Given the description of an element on the screen output the (x, y) to click on. 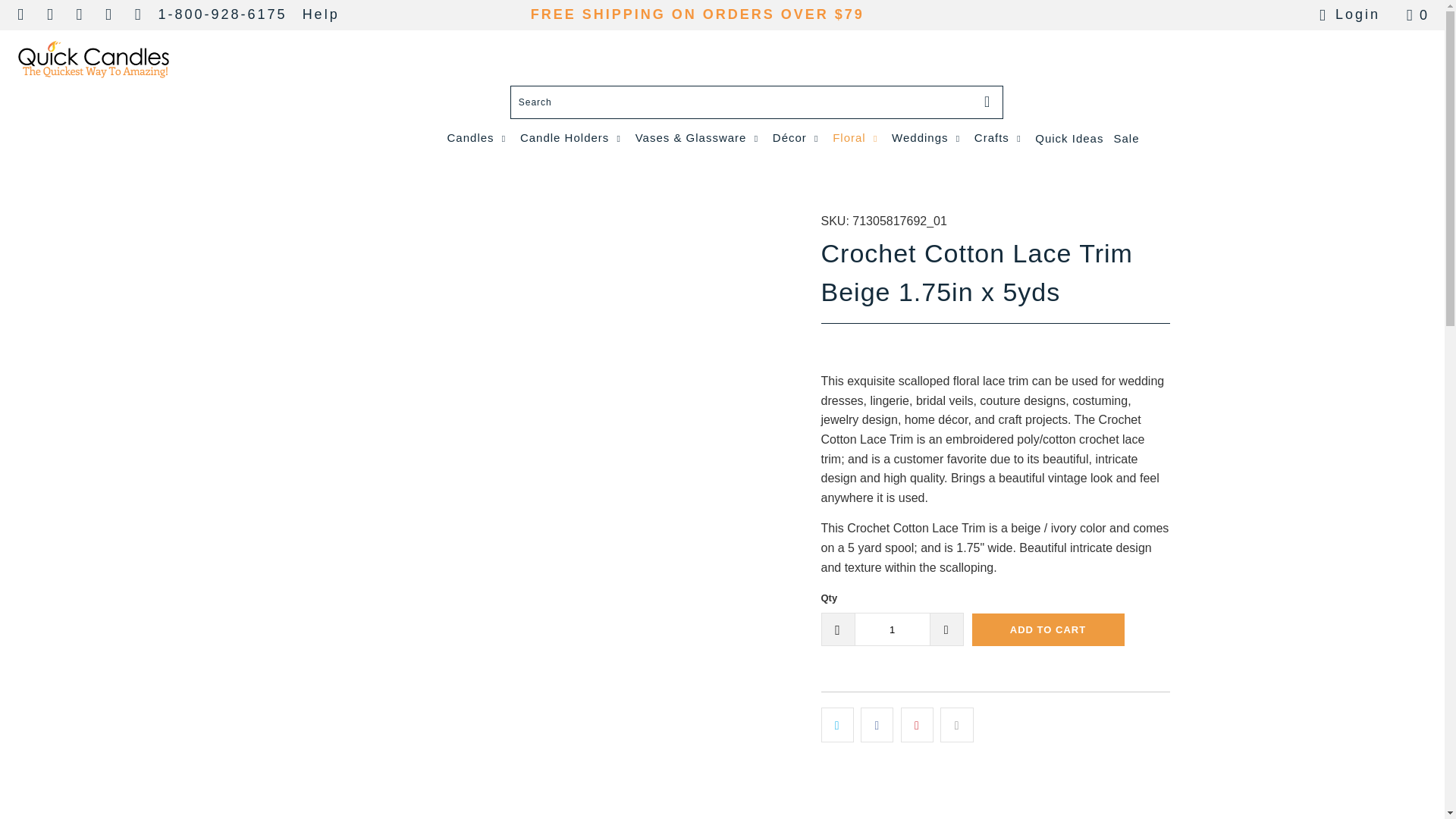
Quick Candles (92, 61)
Quick Candles on Twitter (108, 14)
My Account  (1346, 14)
Quick Candles on Instagram (49, 14)
Share this on Twitter (837, 724)
Quick Candles on YouTube (137, 14)
Quick Candles on Facebook (20, 14)
Quick Candles on Pinterest (78, 14)
Email this to a friend (956, 724)
Share this on Pinterest (917, 724)
